Given the description of an element on the screen output the (x, y) to click on. 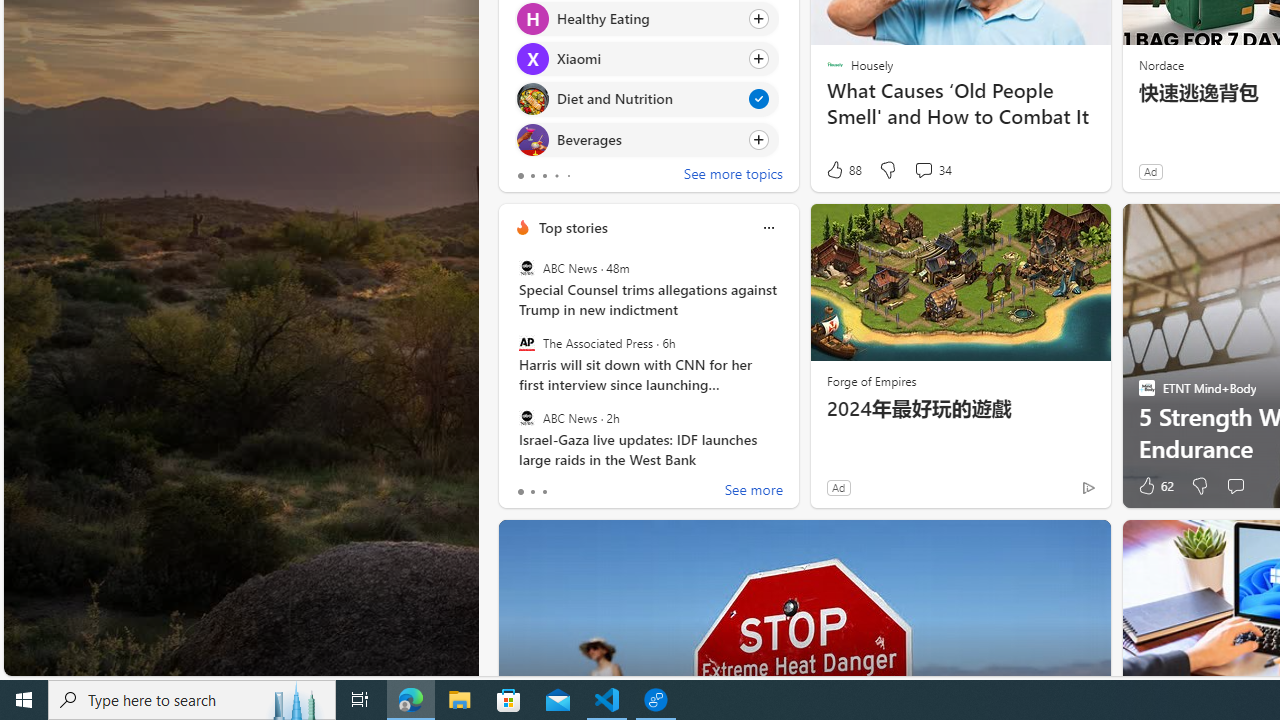
Diet and Nutrition (532, 98)
See more topics (733, 175)
View comments 34 Comment (923, 169)
ABC News (526, 417)
Click to follow topic Healthy Eating (646, 18)
Click to unfollow topic Diet and Nutrition (646, 99)
Class: icon-img (768, 228)
88 Like (843, 170)
Dislike (1199, 485)
tab-4 (567, 175)
tab-0 (520, 491)
Beverages (532, 139)
